Given the description of an element on the screen output the (x, y) to click on. 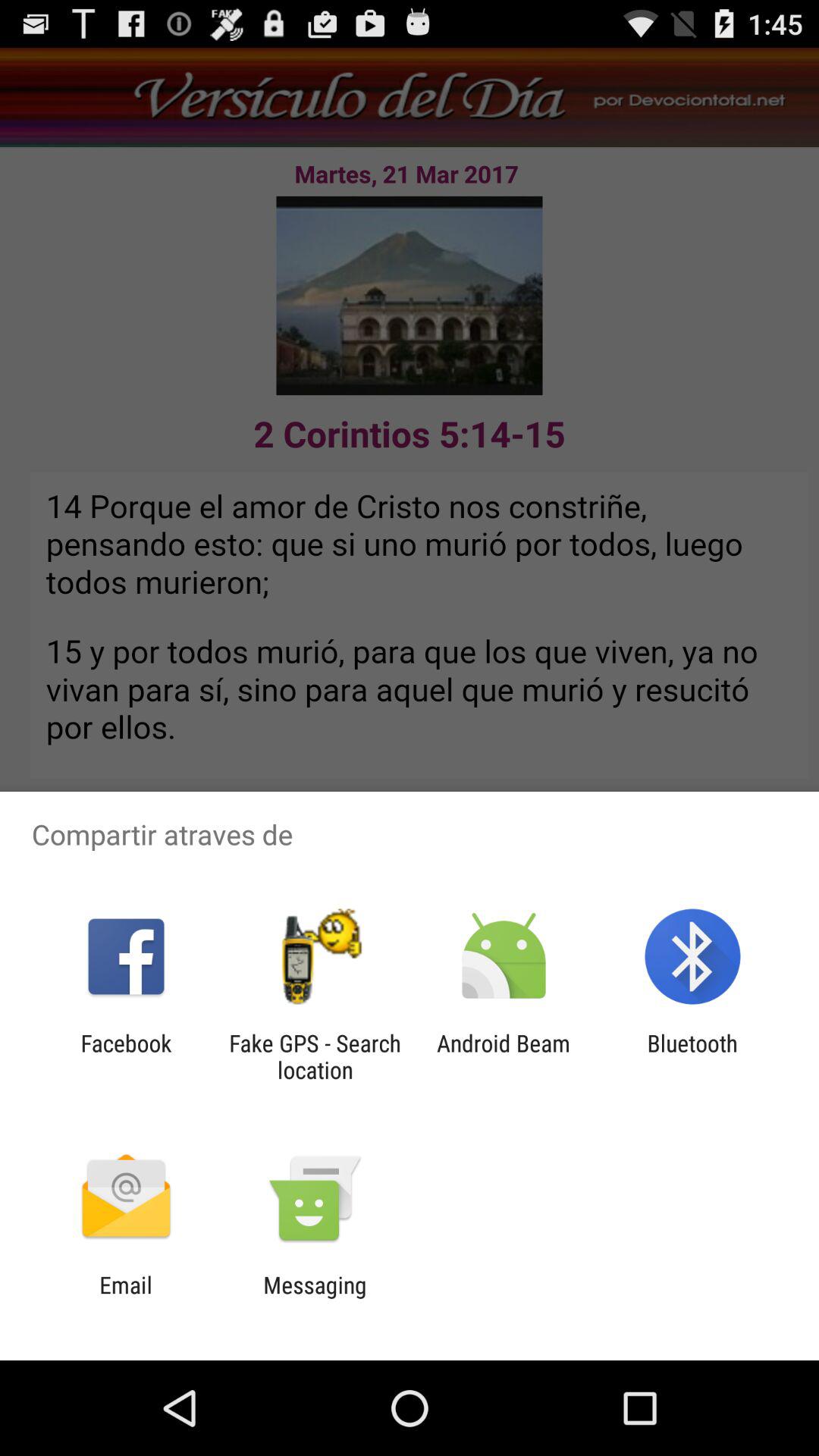
press the bluetooth icon (692, 1056)
